Given the description of an element on the screen output the (x, y) to click on. 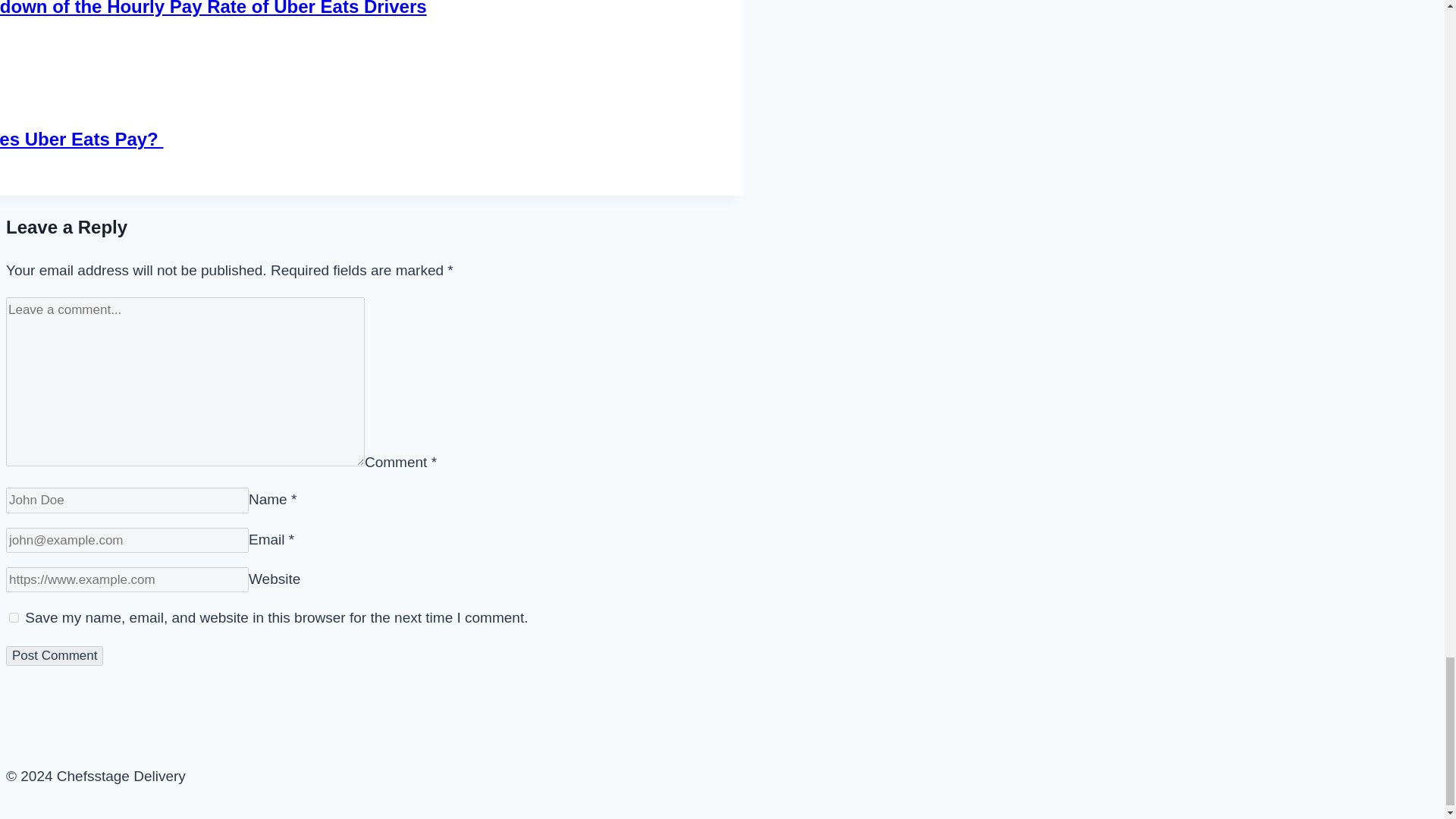
yes (13, 617)
Post Comment (54, 655)
How Does Uber Eats Pay?  (81, 138)
A Breakdown of the Hourly Pay Rate of Uber Eats Drivers (213, 8)
